Given the description of an element on the screen output the (x, y) to click on. 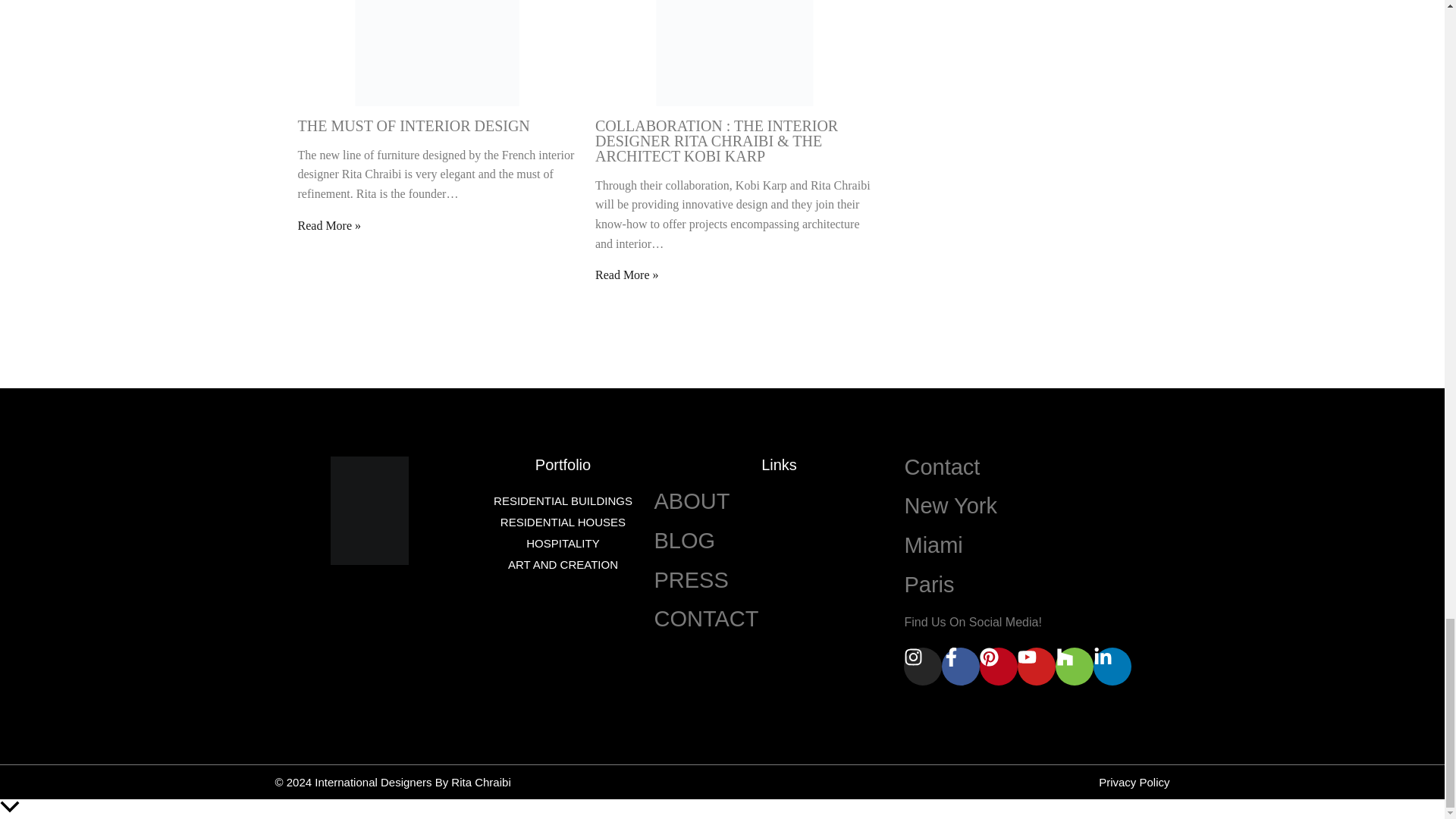
THE MUST OF INTERIOR DESIGN (413, 125)
